Given the description of an element on the screen output the (x, y) to click on. 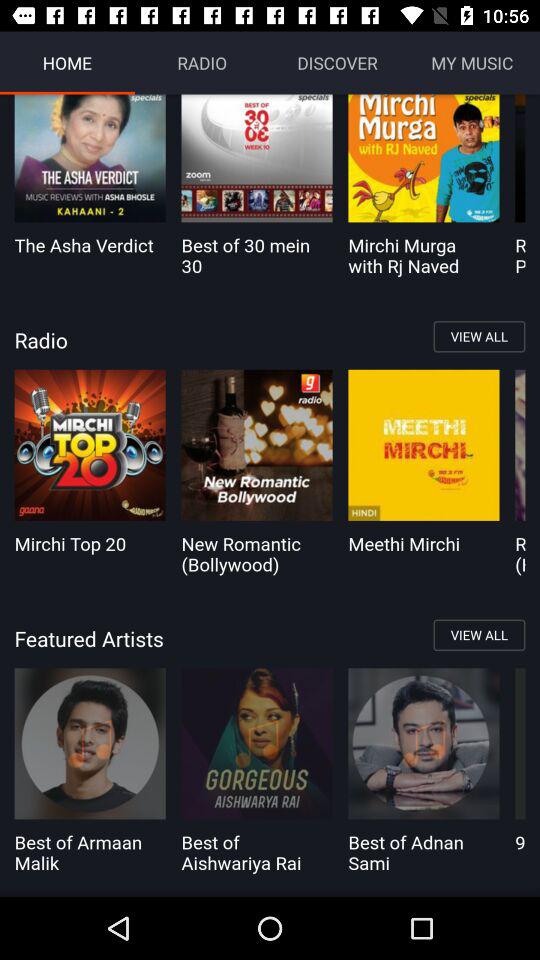
swipe until the featured artists item (270, 638)
